Given the description of an element on the screen output the (x, y) to click on. 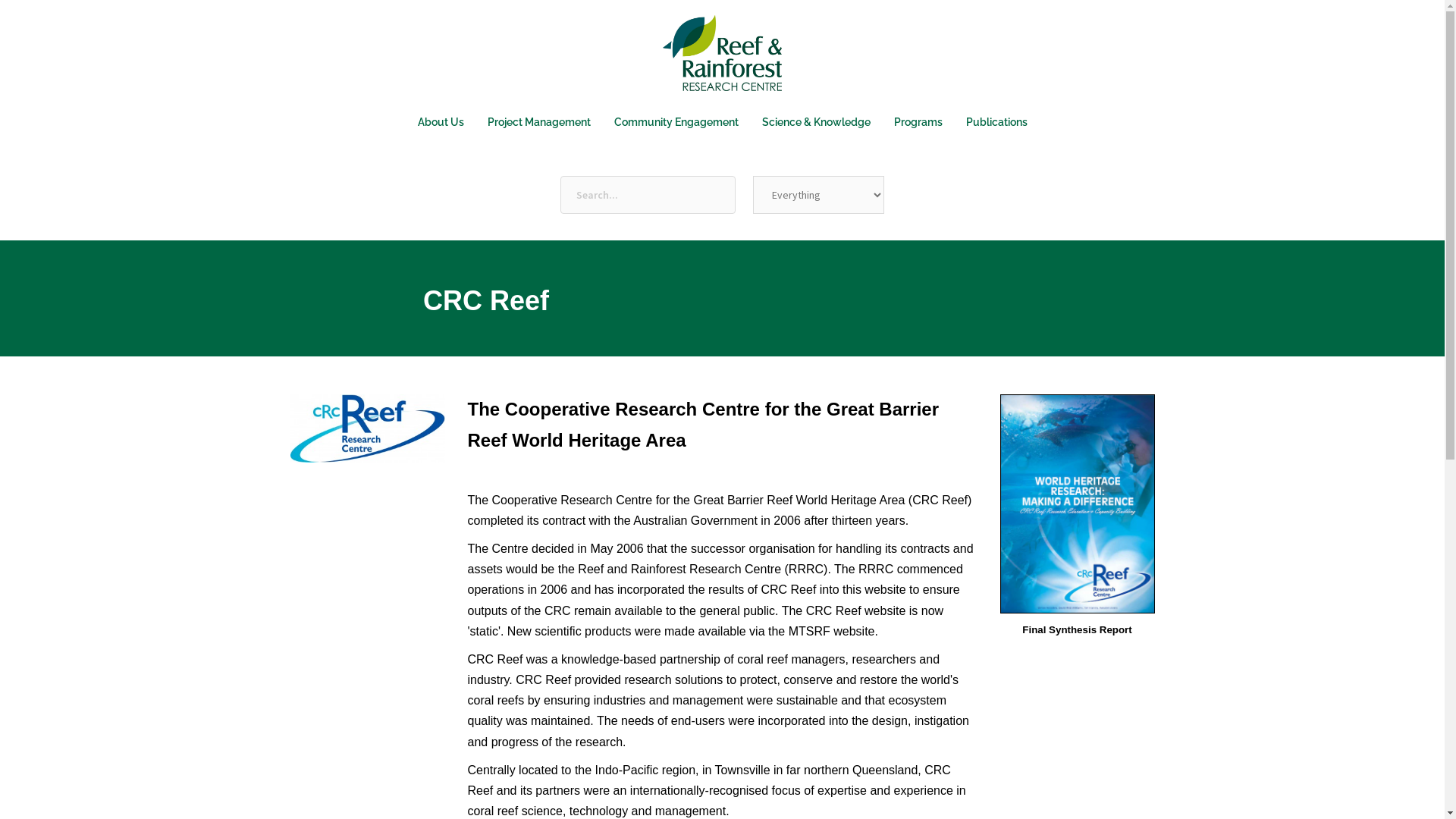
About Us Element type: text (440, 122)
Reef & Rainforest Element type: hover (721, 57)
Publications Element type: text (996, 122)
Community Engagement Element type: text (676, 122)
Science & Knowledge Element type: text (815, 122)
Search for: Element type: hover (647, 194)
Project Management Element type: text (537, 122)
Search Element type: text (46, 18)
Programs Element type: text (917, 122)
